Given the description of an element on the screen output the (x, y) to click on. 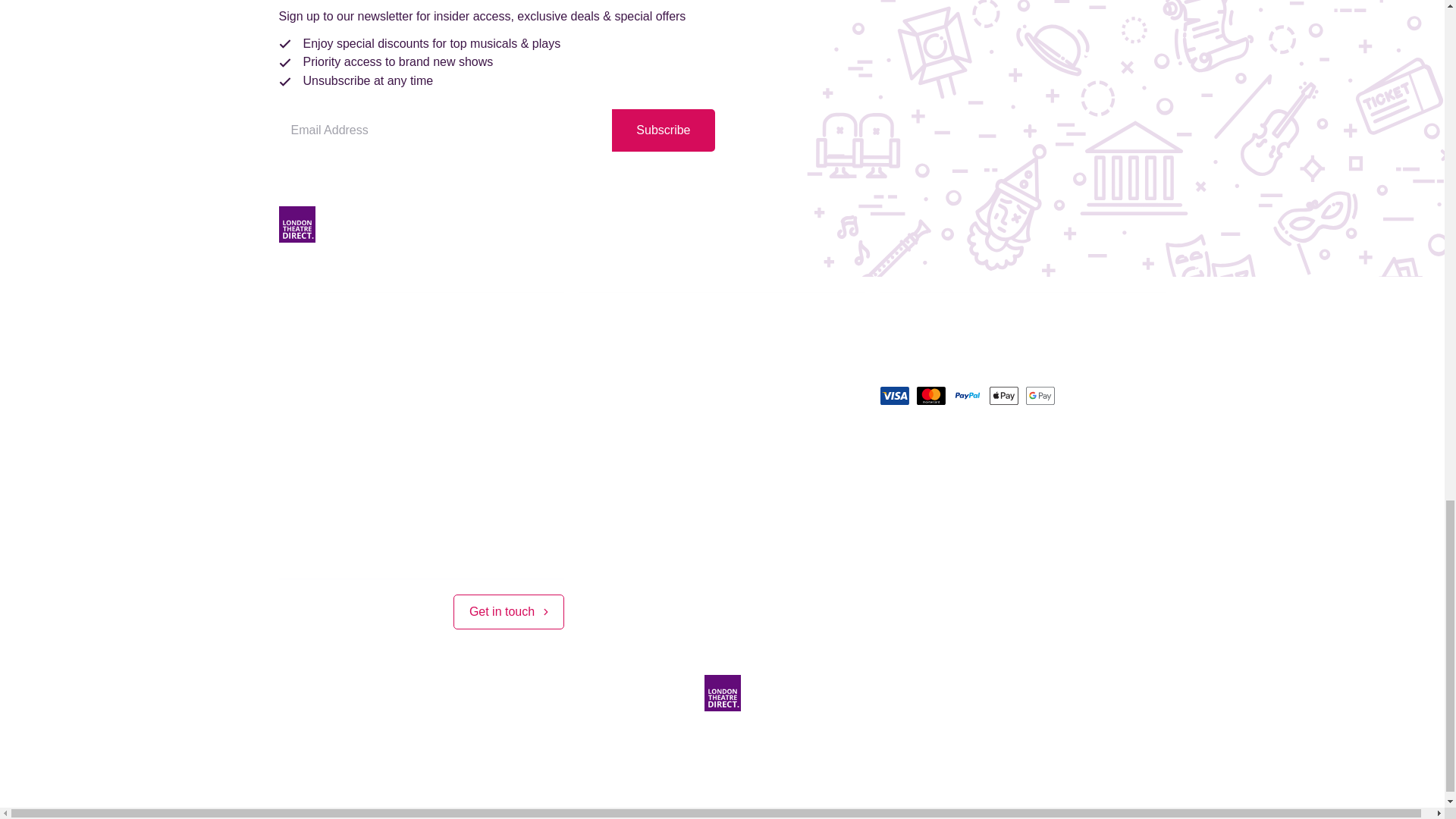
Trafalgar Entertainment (533, 742)
Stagecoach Theatre (674, 742)
Trafalgar Releasing (804, 742)
Trafalgar Theatre (927, 742)
